Given the description of an element on the screen output the (x, y) to click on. 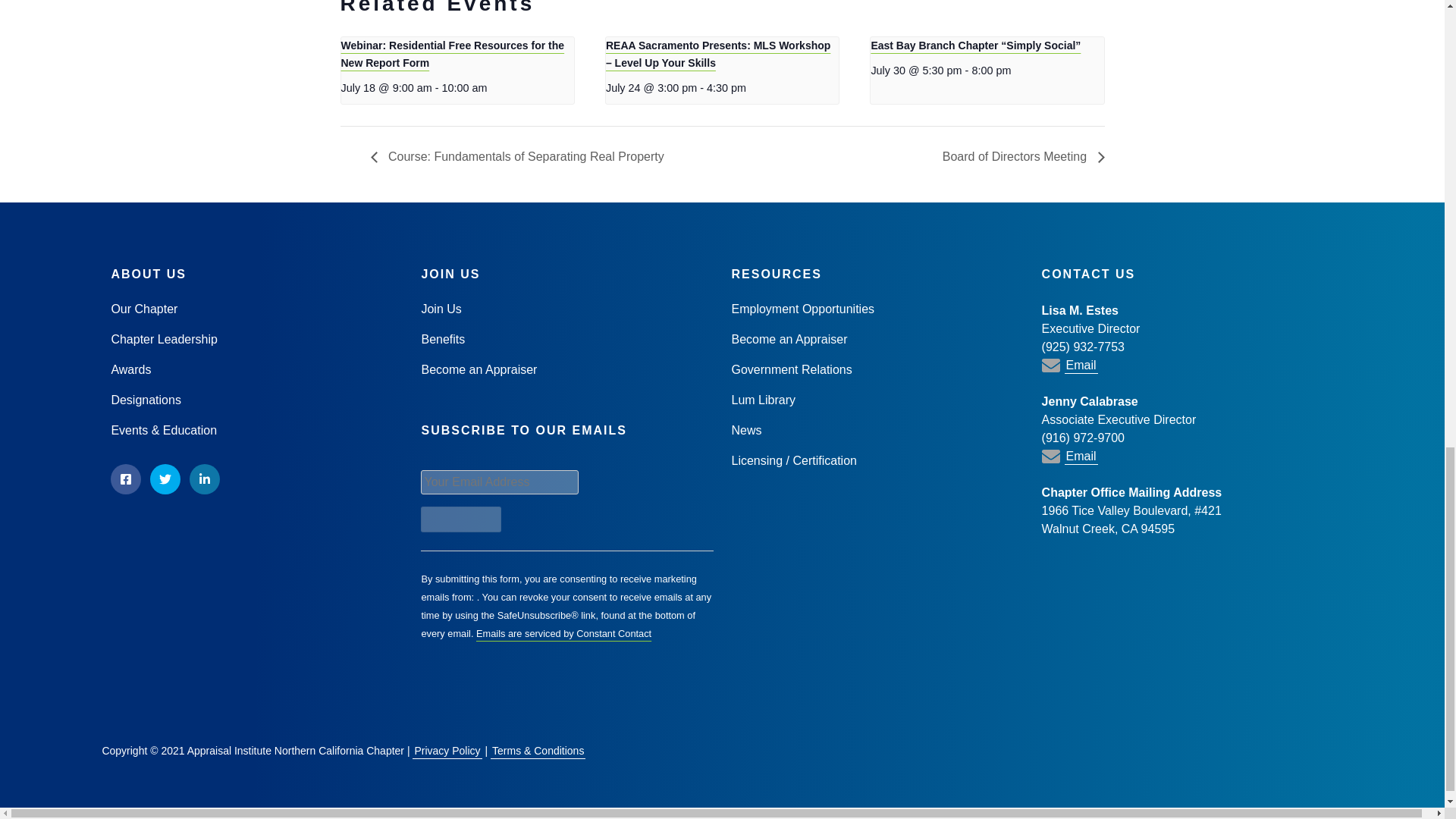
Subscribe (460, 519)
Norcal-AI Facebook (125, 479)
Norcal-AI Twitter (164, 479)
Norcal-AI LinkedIn (204, 479)
